Given the description of an element on the screen output the (x, y) to click on. 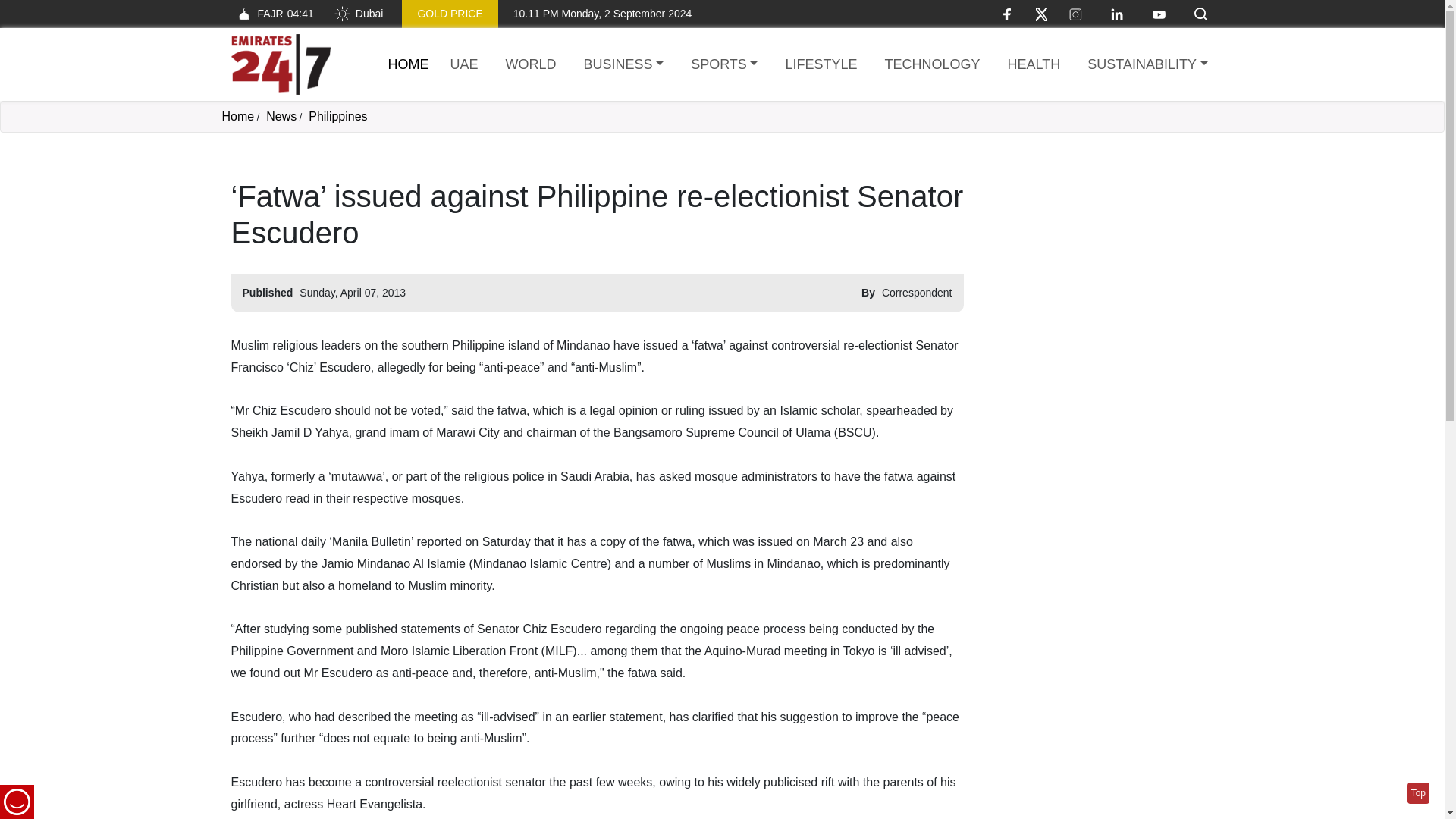
UAE (464, 64)
SUSTAINABILITY (1146, 64)
News (281, 115)
Home (237, 115)
SPORTS (723, 64)
GOLD PRICE (271, 13)
BUSINESS (449, 13)
Philippines (623, 64)
TECHNOLOGY (337, 115)
